Given the description of an element on the screen output the (x, y) to click on. 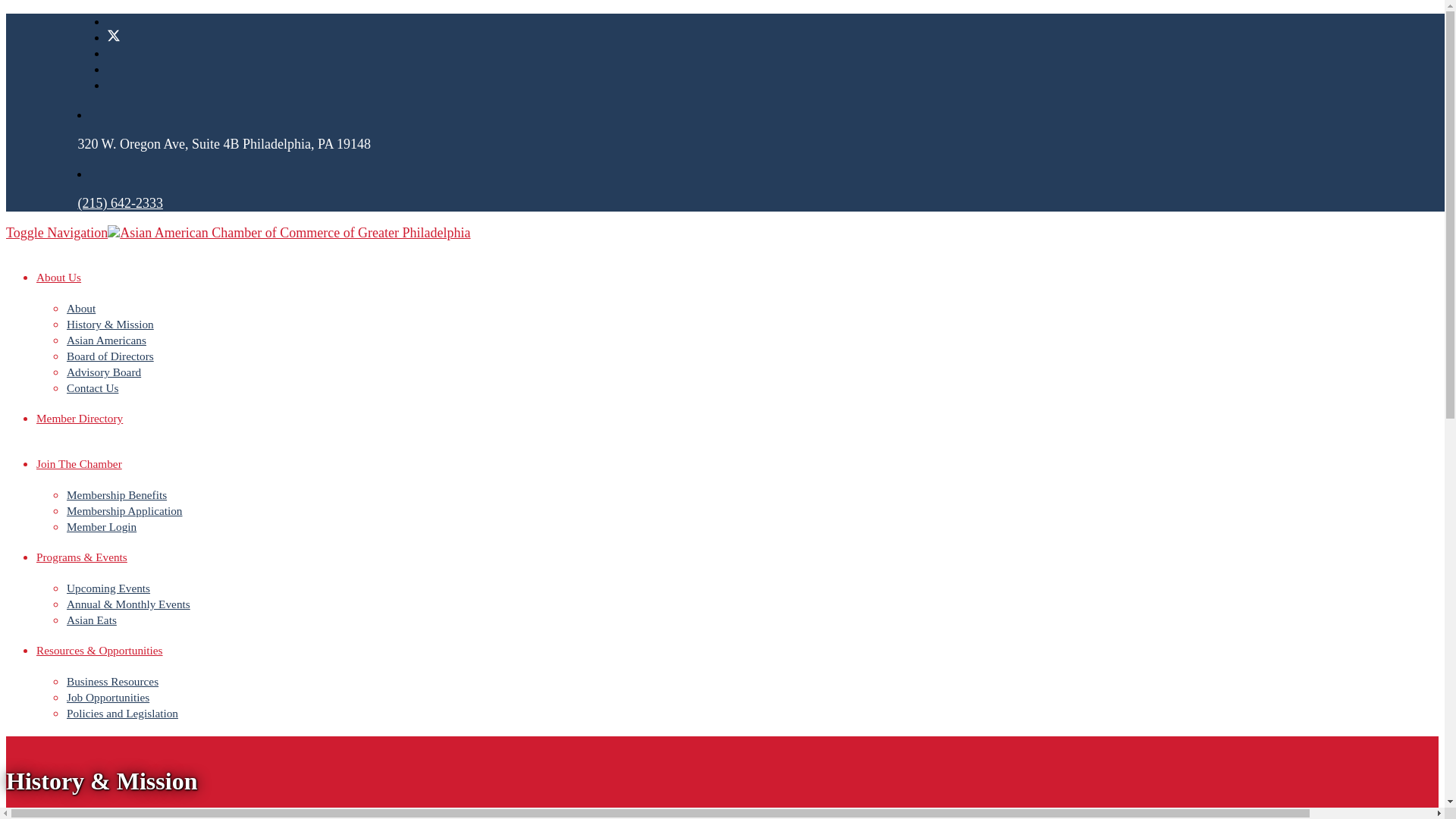
Member Login (101, 526)
Asian Eats (91, 619)
Toggle Navigation (56, 232)
Member Directory (79, 418)
About Us (58, 277)
About (81, 308)
Contact Us (91, 387)
Asian Americans (106, 339)
Upcoming Events (107, 587)
Advisory Board (103, 371)
Join The Chamber (79, 463)
Membership Benefits (116, 494)
Policies and Legislation (121, 712)
Business Resources (112, 680)
Job Opportunities (107, 697)
